Given the description of an element on the screen output the (x, y) to click on. 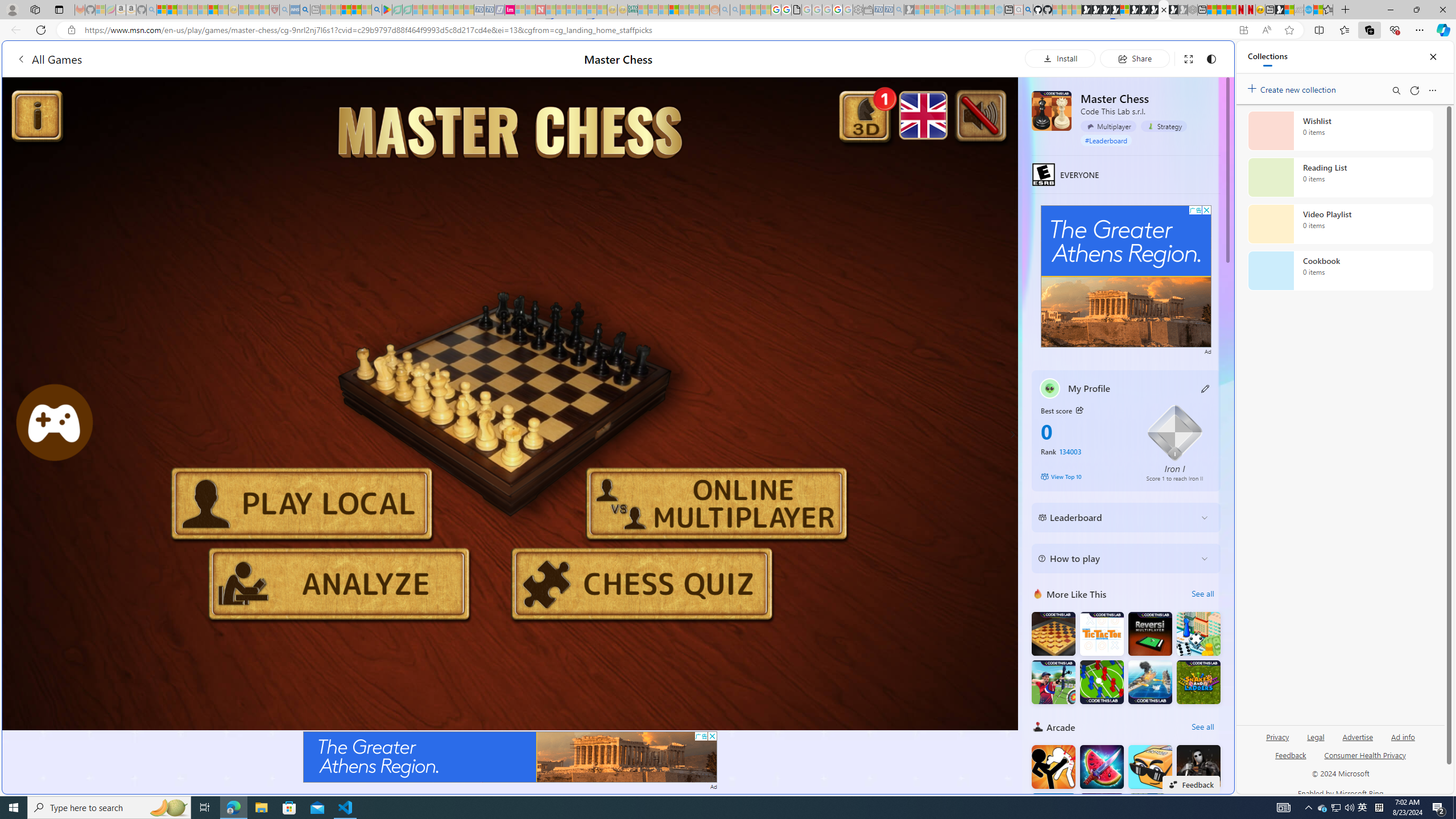
Strategy (1164, 126)
Microsoft Start Gaming - Sleeping (908, 9)
utah sues federal government - Search (304, 9)
Pets - MSN (356, 9)
